Given the description of an element on the screen output the (x, y) to click on. 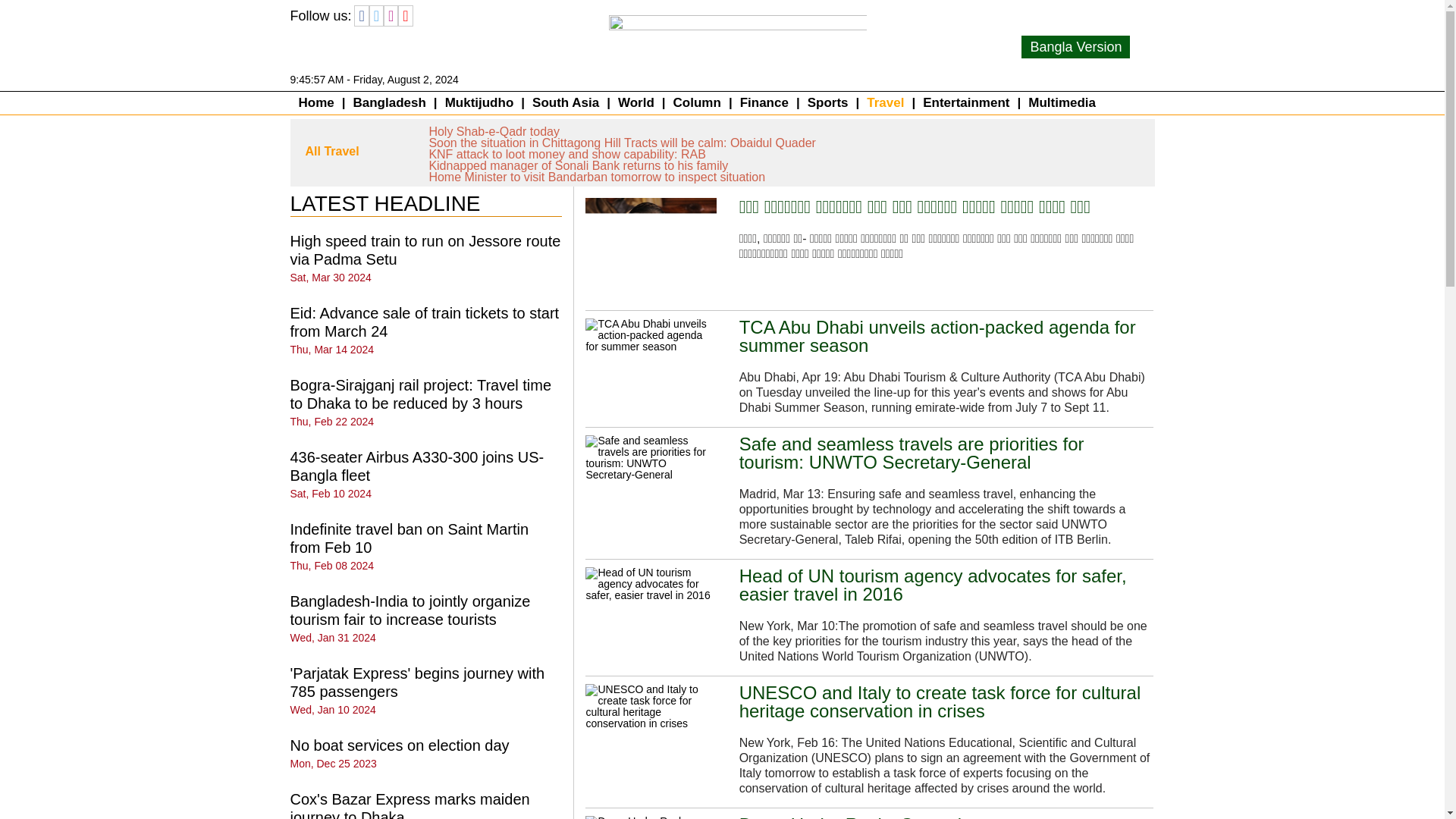
Indefinite travel ban on Saint Martin from Feb 10 (408, 538)
Sports (827, 102)
TCA Abu Dhabi unveils action-packed agenda for summer season (946, 336)
Down Under Rocky Sensations (650, 817)
Multimedia (1061, 102)
Eid: Advance sale of train tickets to start from March 24 (424, 321)
Down Under Rocky Sensations (865, 817)
Bangla Version (1075, 47)
High speed train to run on Jessore route via Padma Setu (424, 249)
South Asia (565, 102)
436-seater Airbus A330-300 joins US-Bangla fleet (416, 466)
Entertainment (965, 102)
Home (316, 102)
